Given the description of an element on the screen output the (x, y) to click on. 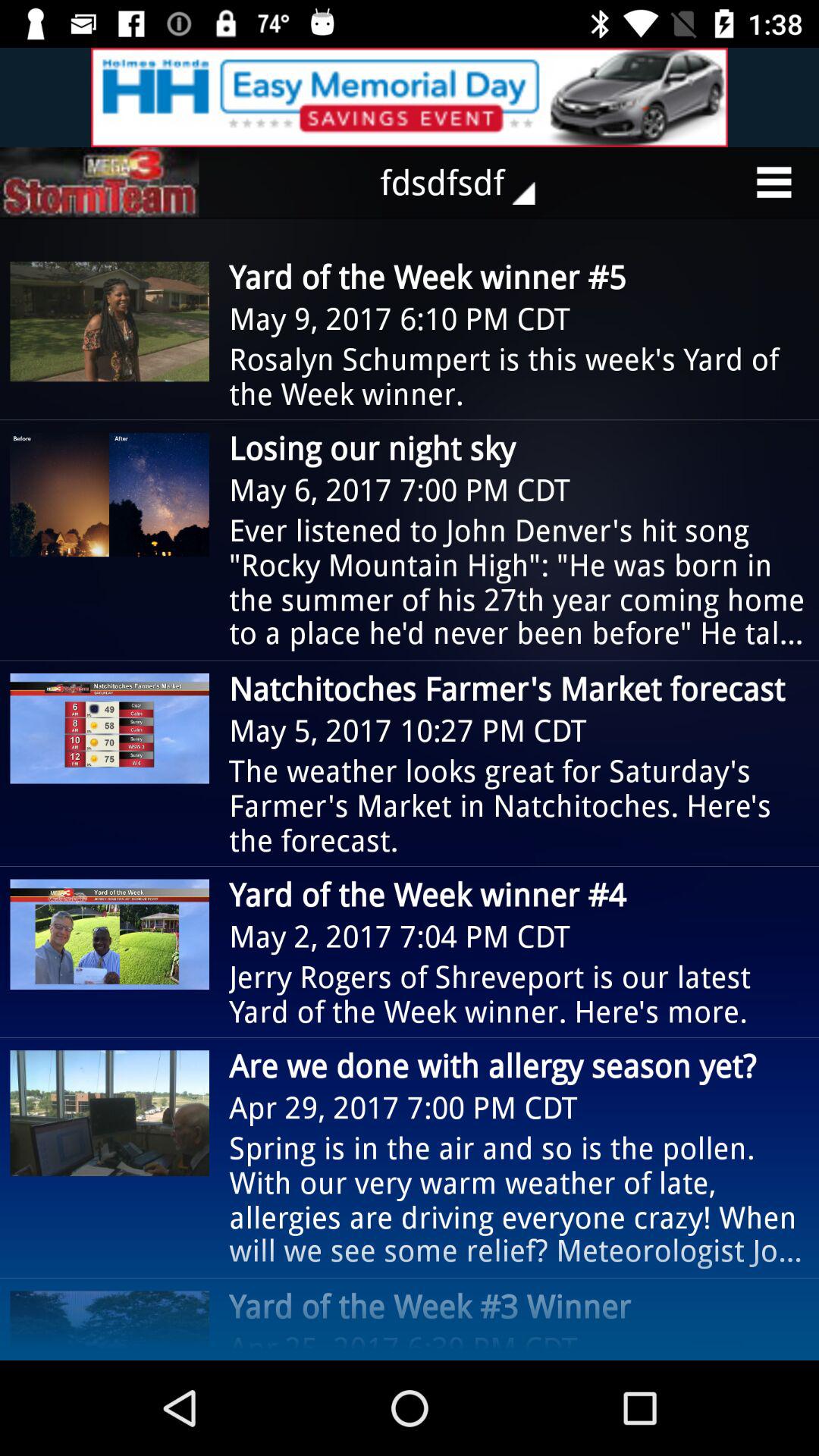
select item next to the fdsdfsdf item (99, 182)
